Given the description of an element on the screen output the (x, y) to click on. 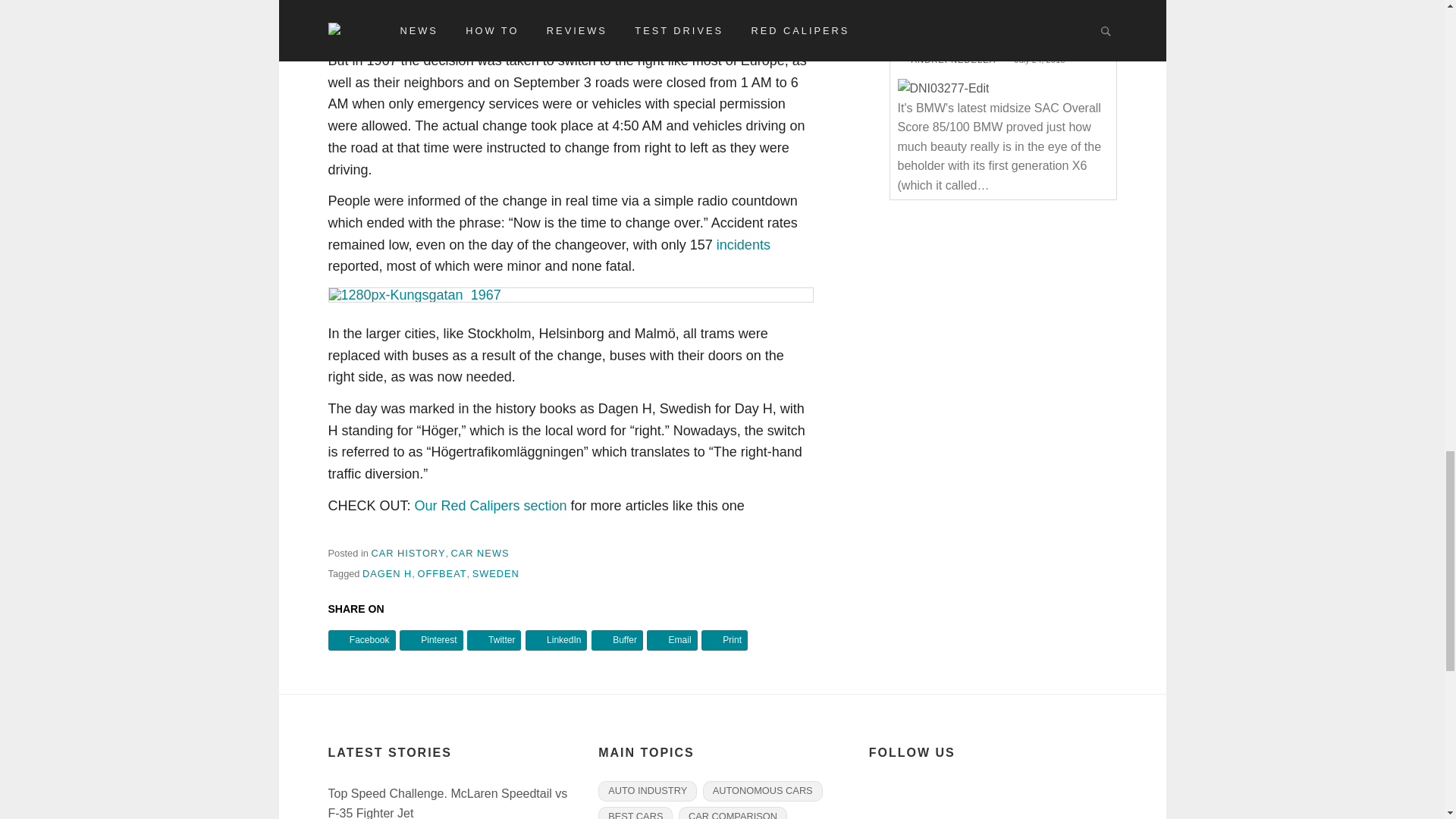
DAGEN H (387, 573)
SWEDEN (495, 573)
CAR NEWS (480, 552)
Email (671, 639)
Twitter (494, 639)
Facebook (360, 639)
Print (724, 639)
CAR HISTORY (408, 552)
LinkedIn (556, 639)
Posts by Andrei Nedelea (953, 59)
Our Red Calipers section (490, 505)
Pinterest (430, 639)
Buffer (617, 639)
ncidents (744, 244)
OFFBEAT (440, 573)
